Given the description of an element on the screen output the (x, y) to click on. 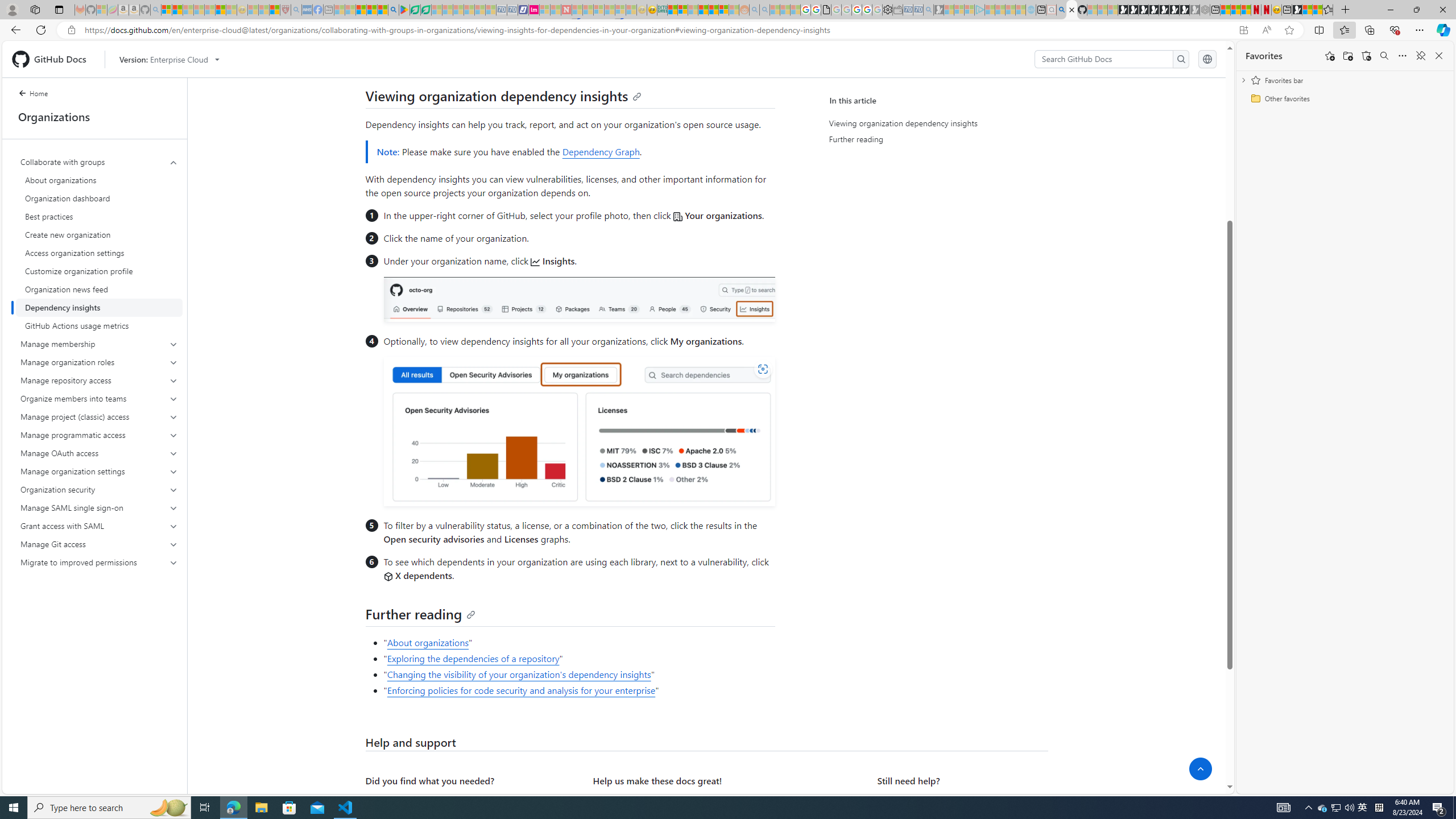
Further reading (933, 139)
Manage organization roles (99, 361)
Select language: current language is English (1207, 58)
Organization dashboard (99, 198)
Scroll to top (1200, 768)
Terms of Use Agreement (414, 9)
Manage project (classic) access (99, 416)
